Given the description of an element on the screen output the (x, y) to click on. 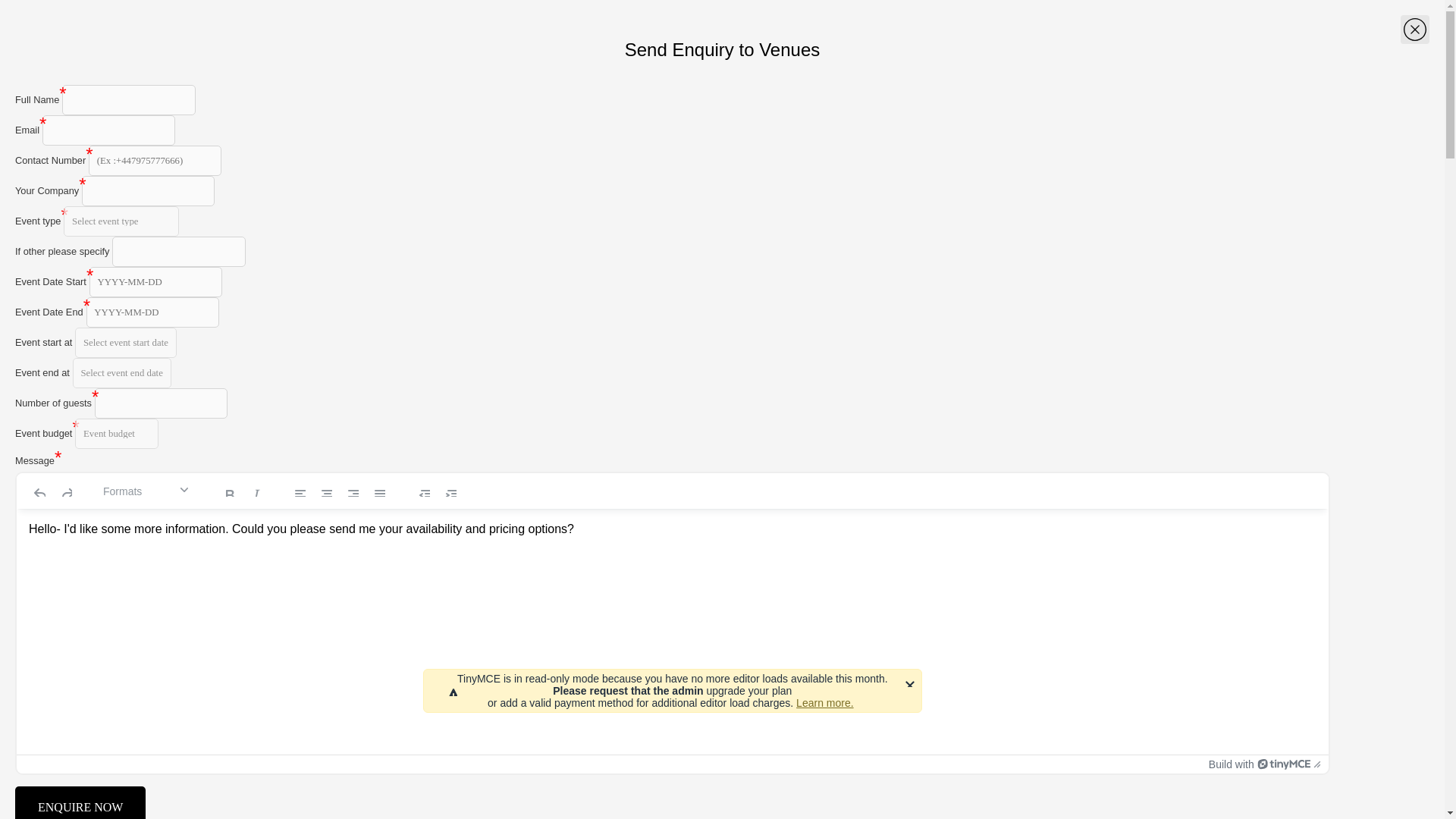
indentation (436, 490)
alignment (338, 490)
styles (146, 490)
history (51, 490)
formatting (240, 490)
ENQUIRE NOW (79, 802)
Build with (1259, 764)
Formats (146, 491)
